Given the description of an element on the screen output the (x, y) to click on. 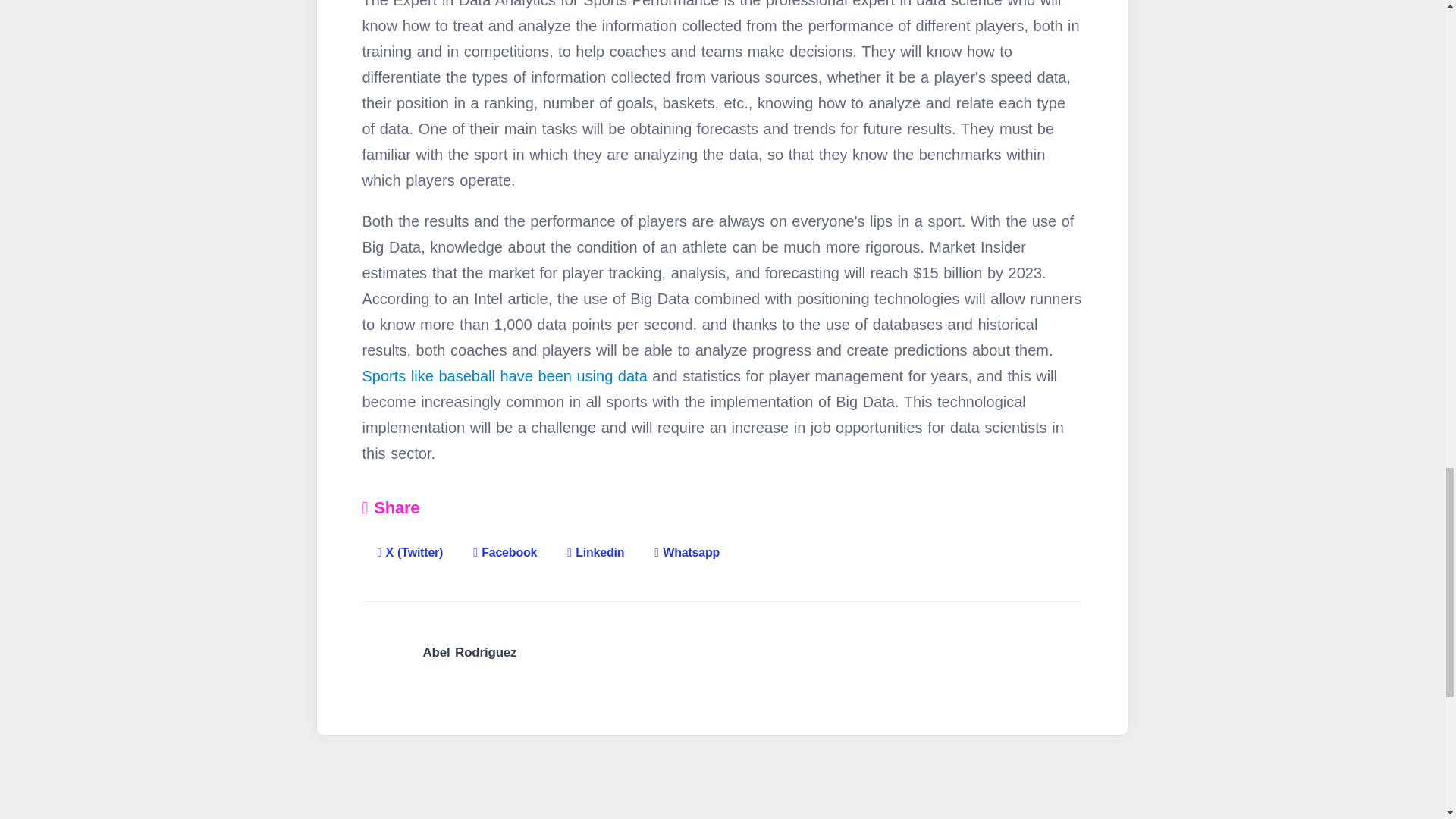
Linkedin (595, 540)
Facebook (504, 540)
Whatsapp (687, 540)
Sports like baseball have been using data (504, 375)
